Given the description of an element on the screen output the (x, y) to click on. 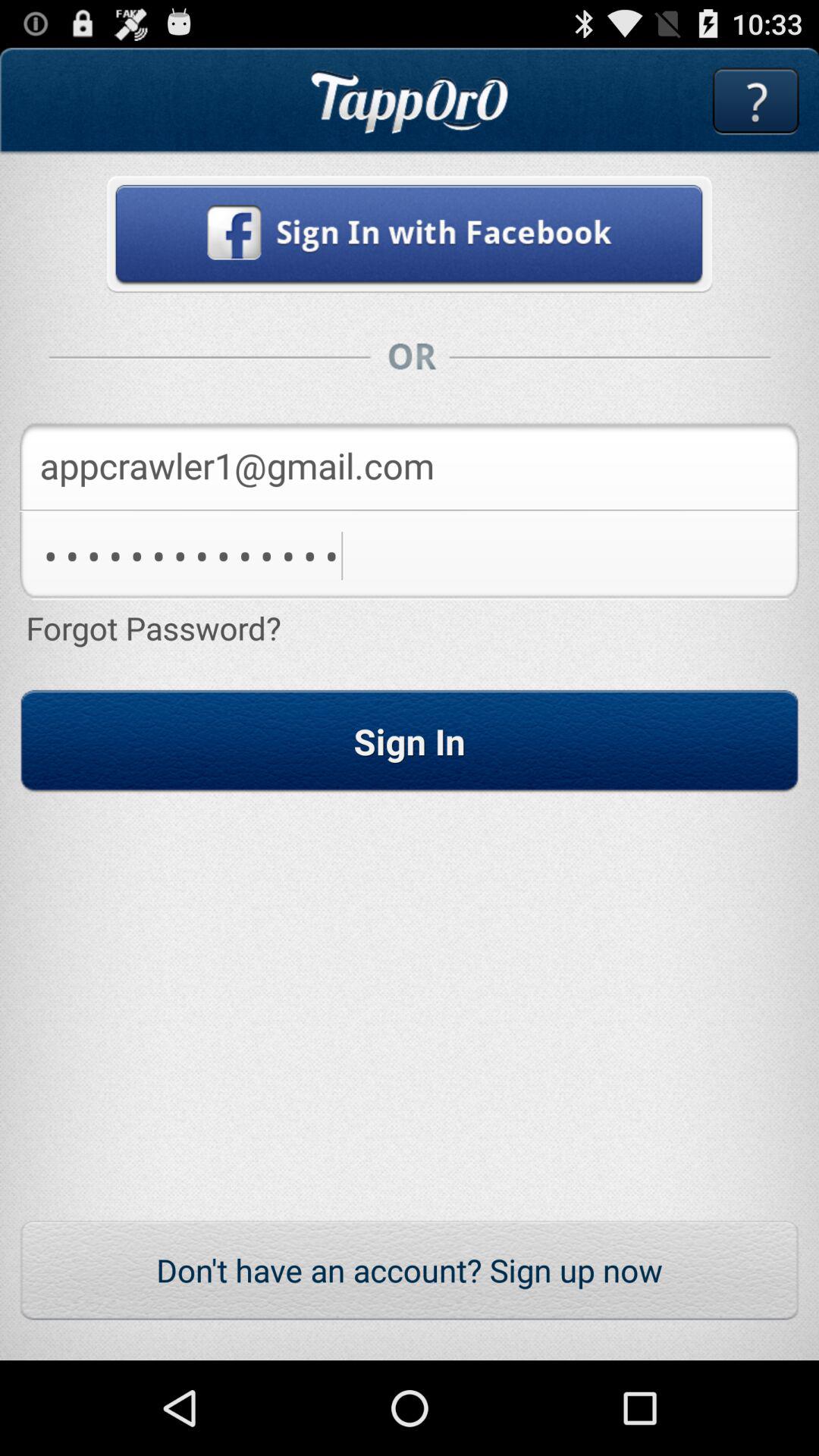
create your own account in the website (409, 234)
